Given the description of an element on the screen output the (x, y) to click on. 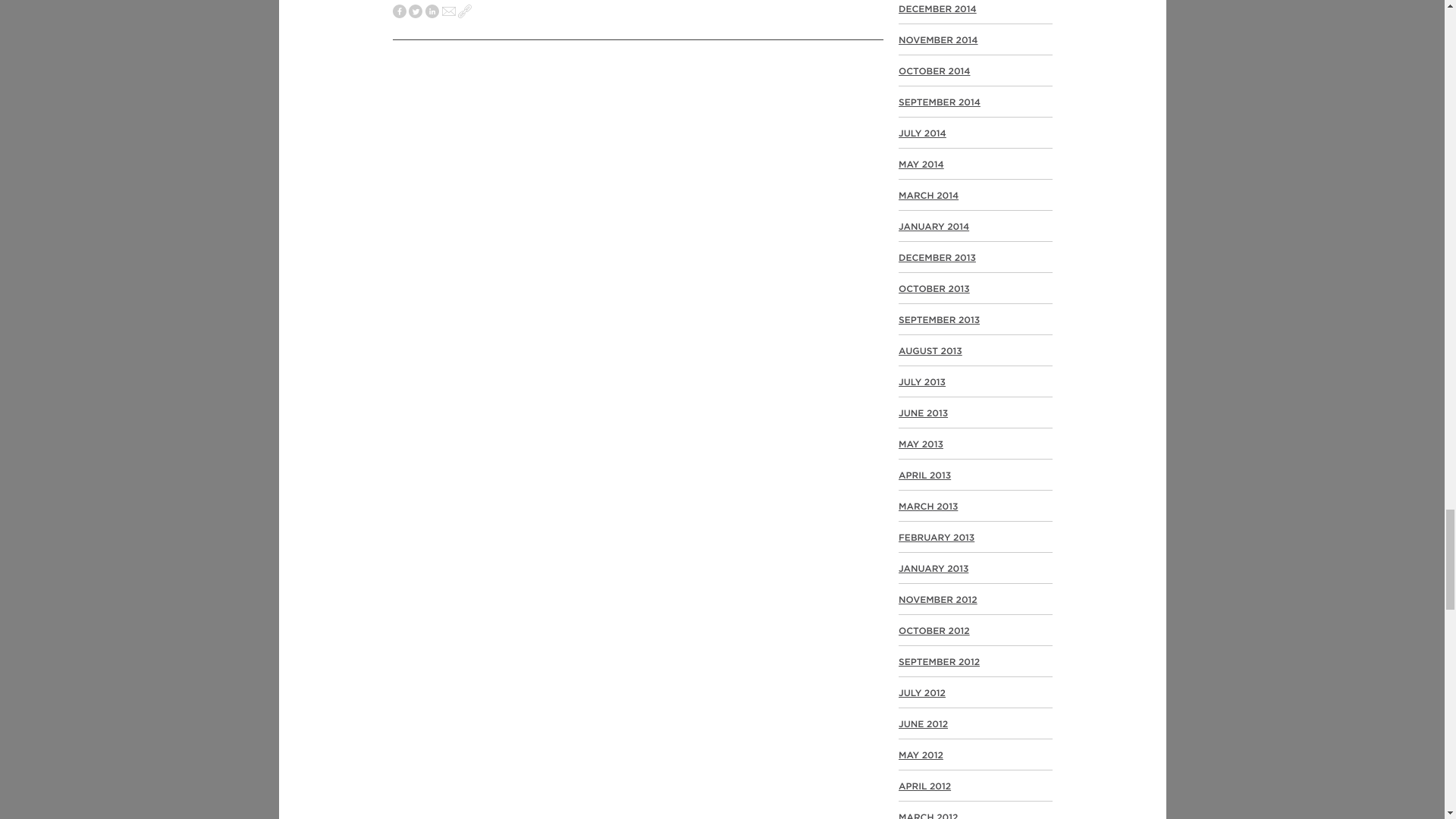
Share on email (448, 11)
Share on twitter (415, 11)
Share on linkedin (432, 11)
Share on facebook (399, 11)
Share on link (464, 11)
